Given the description of an element on the screen output the (x, y) to click on. 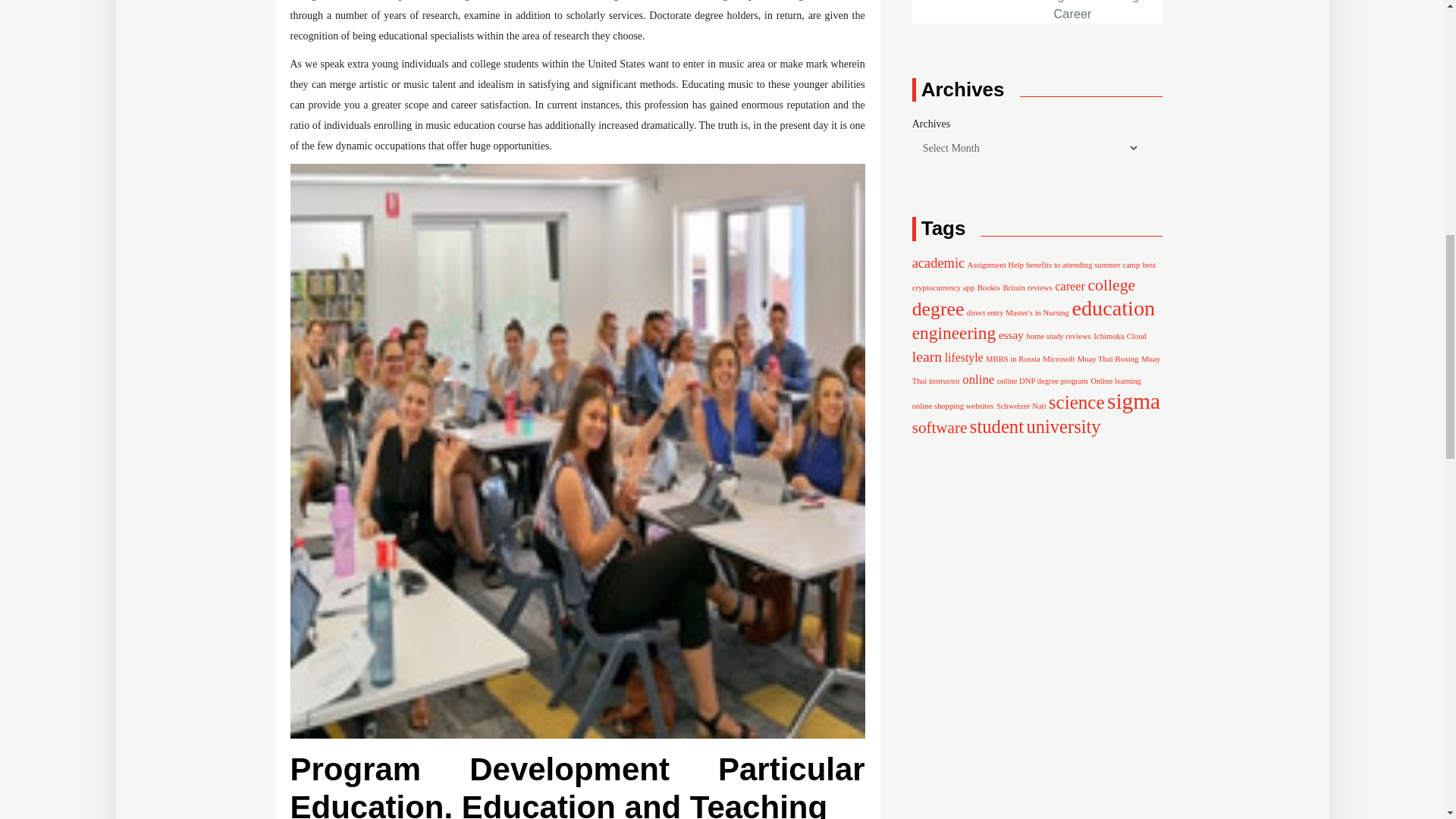
Advancing Your Nursing Career (948, 10)
